Given the description of an element on the screen output the (x, y) to click on. 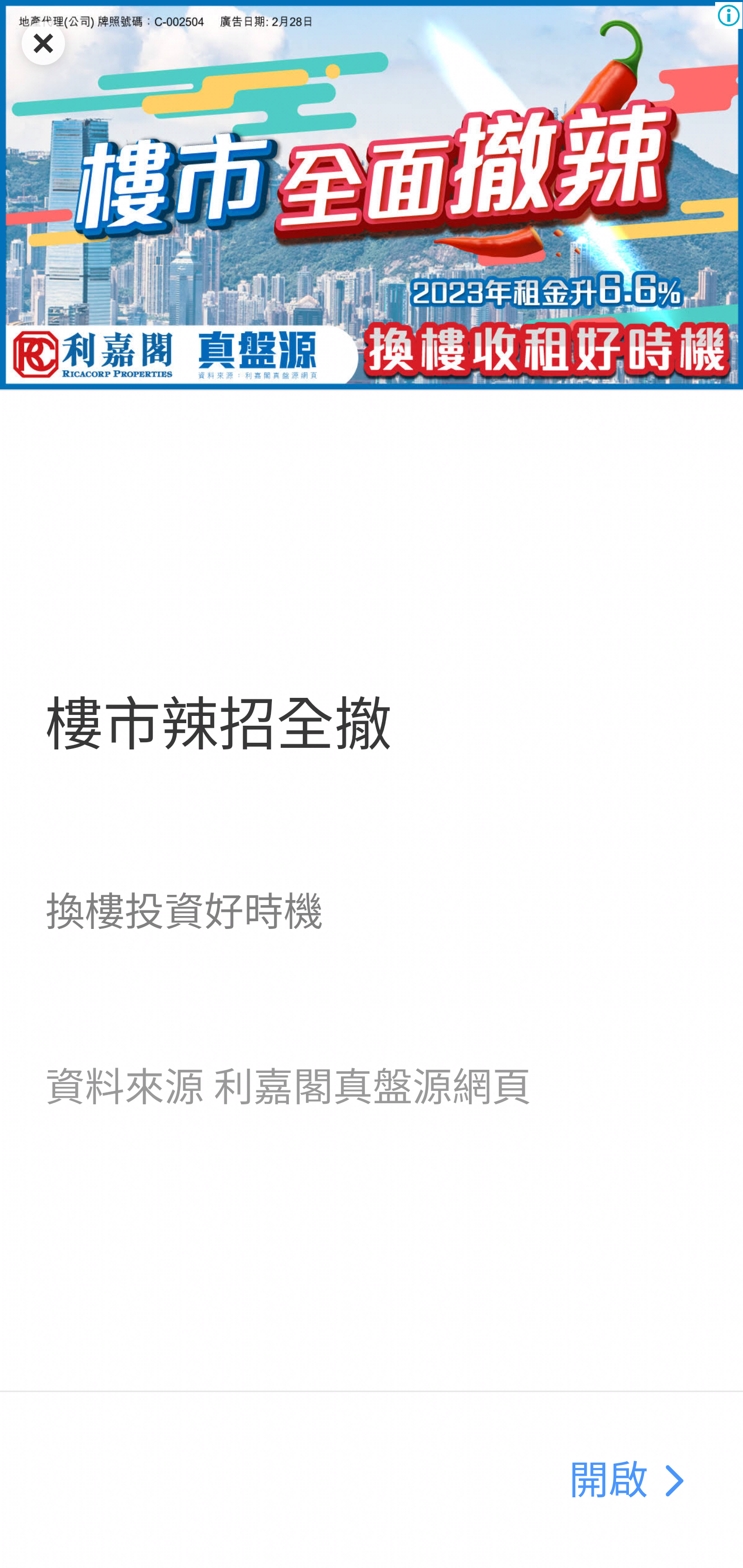
B31476451 (371, 195)
樓市辣招全撤 (218, 724)
換樓投資好時機 (184, 911)
資料來源 利嘉閣真盤源網頁 (287, 1087)
B31476451 (673, 1480)
開啟 (608, 1480)
